Given the description of an element on the screen output the (x, y) to click on. 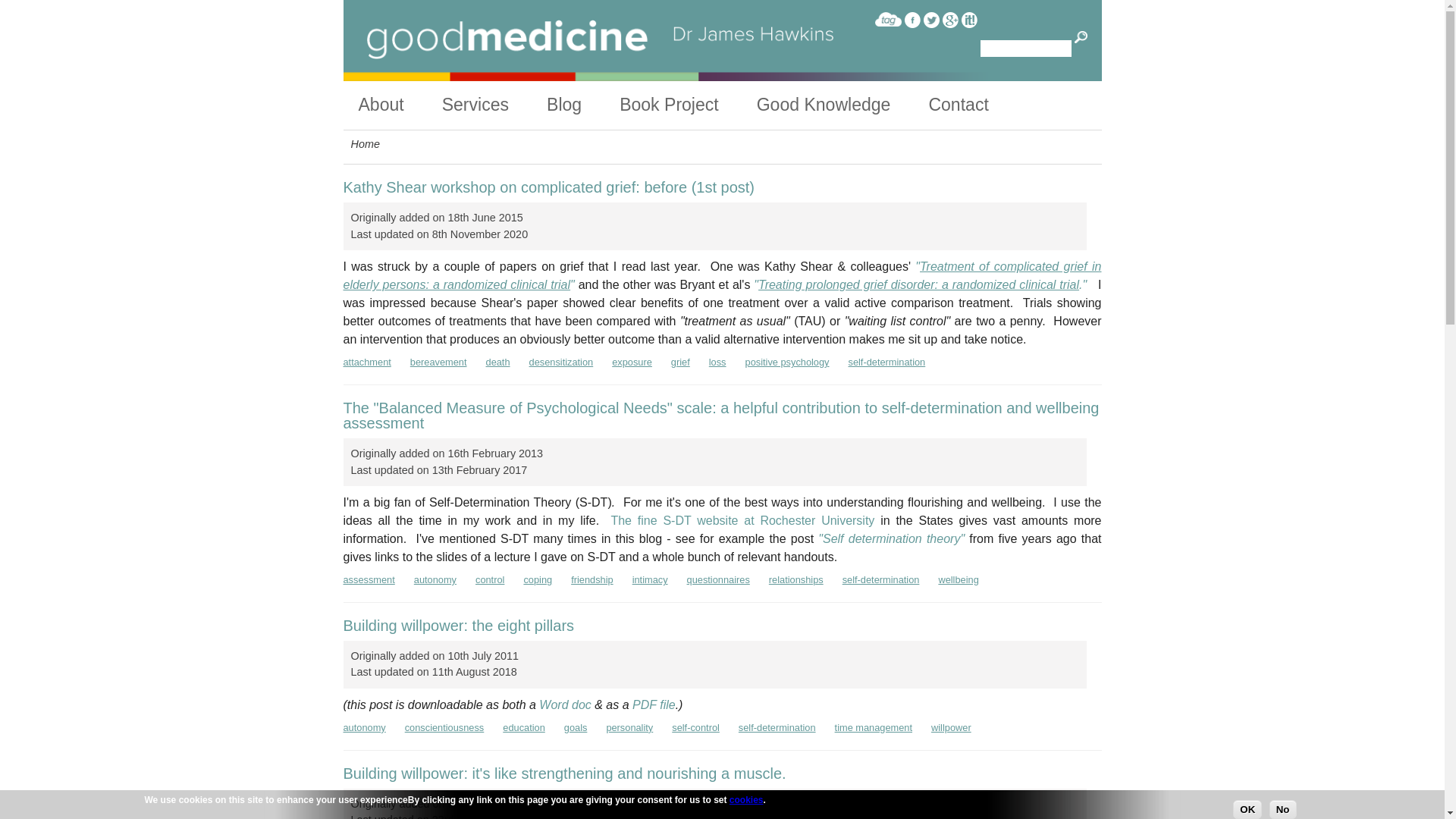
Blog (583, 104)
Search (1081, 38)
Services (494, 104)
About (399, 104)
Good Knowledge (842, 104)
background information (399, 104)
clinic details (494, 104)
Search (1081, 38)
Book Project (688, 104)
dr hawkins' blog (583, 104)
Enter the terms you wish to search for. (1024, 48)
